Given the description of an element on the screen output the (x, y) to click on. 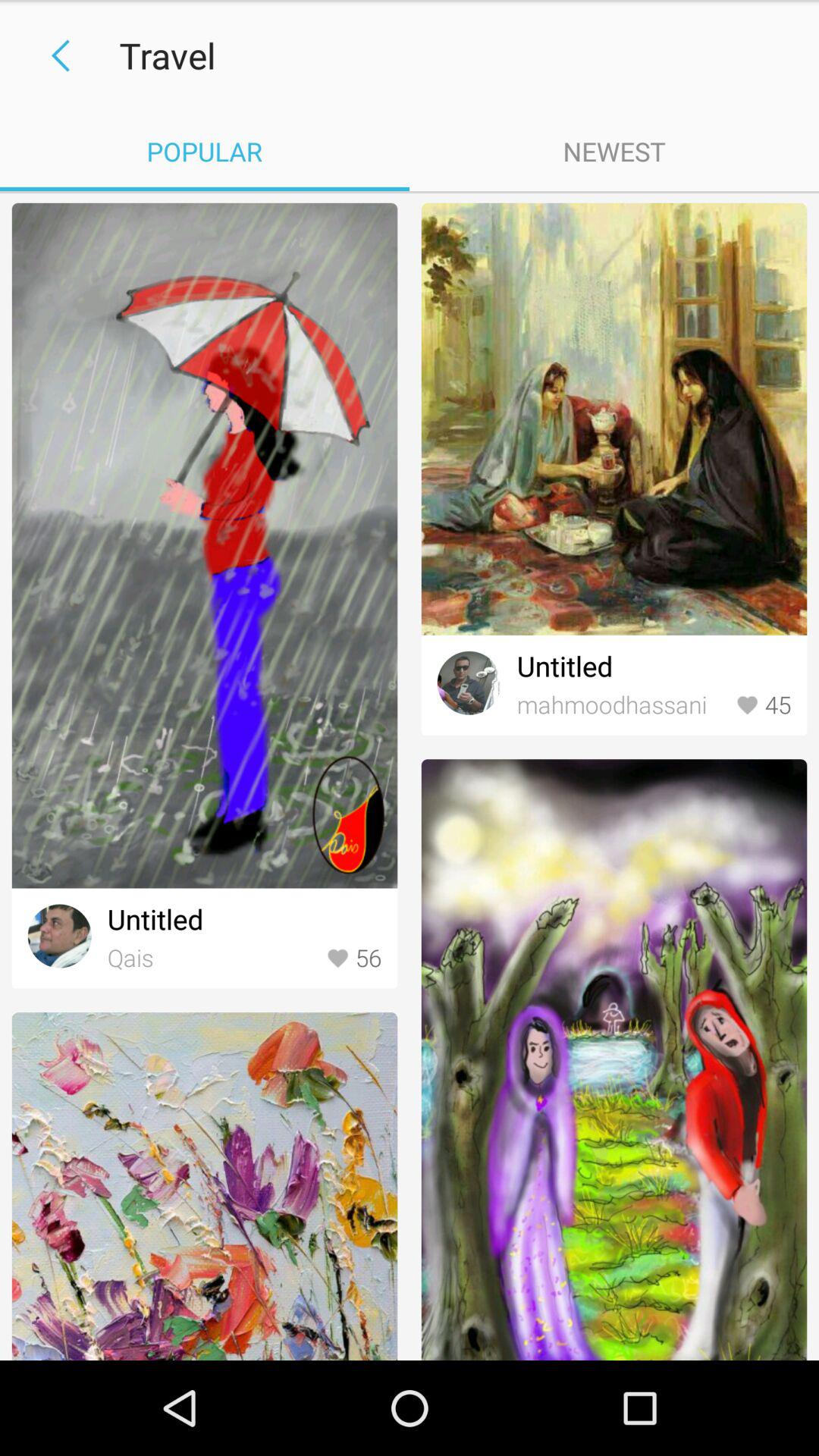
turn on icon to the right of mahmoodhassani icon (762, 705)
